Given the description of an element on the screen output the (x, y) to click on. 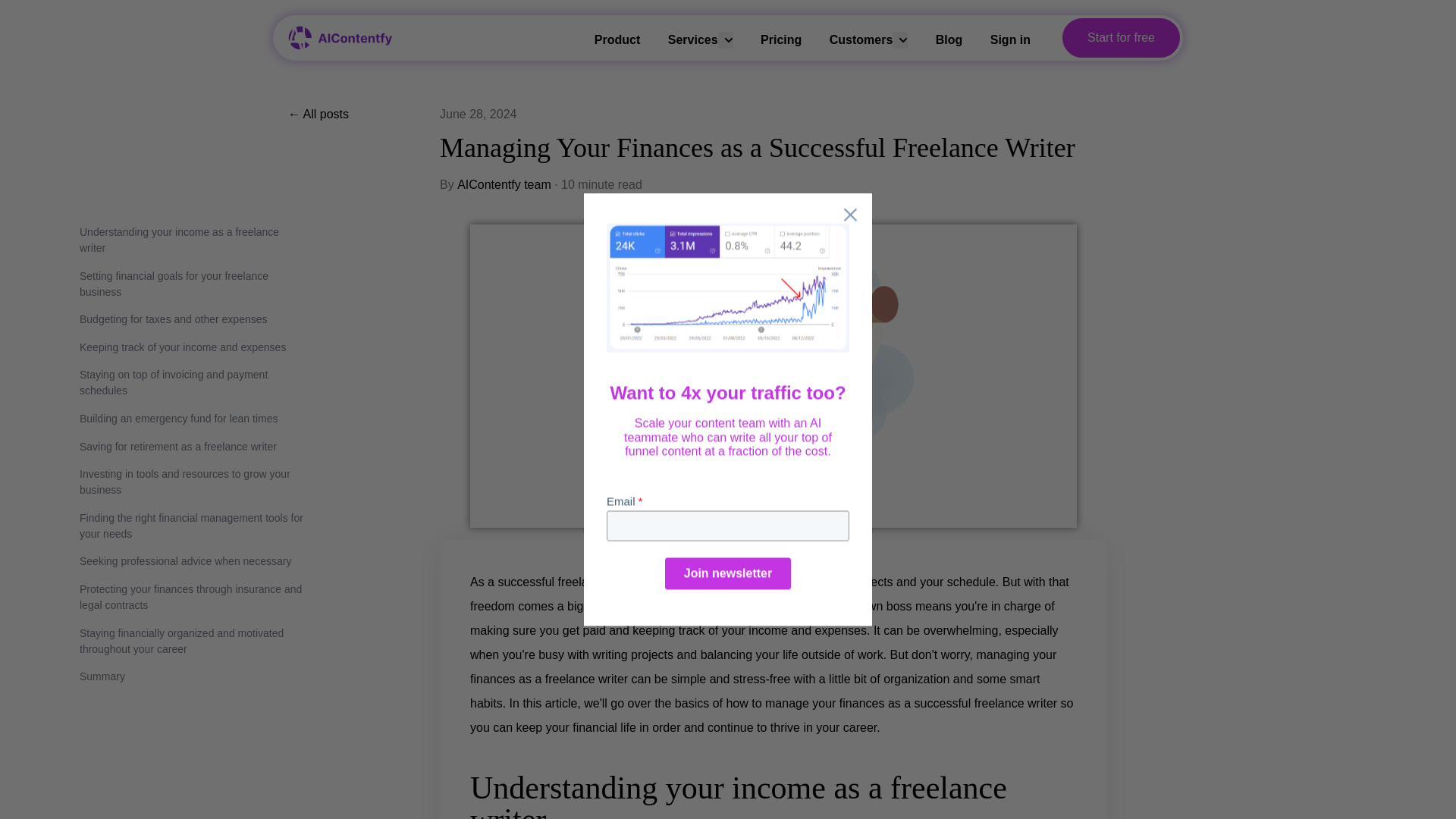
All posts (363, 114)
Customers (861, 39)
Sign in (1010, 39)
Budgeting for taxes and other expenses (185, 319)
Staying on top of invoicing and payment schedules (185, 382)
Services (692, 39)
Setting financial goals for your freelance business (185, 283)
Blog (949, 39)
Show submenu for Customers (899, 39)
Understanding your income as a freelance writer (185, 240)
Product (617, 39)
Start for free (1120, 37)
Keeping track of your income and expenses (185, 346)
Show submenu for Services (725, 39)
Pricing (781, 39)
